Given the description of an element on the screen output the (x, y) to click on. 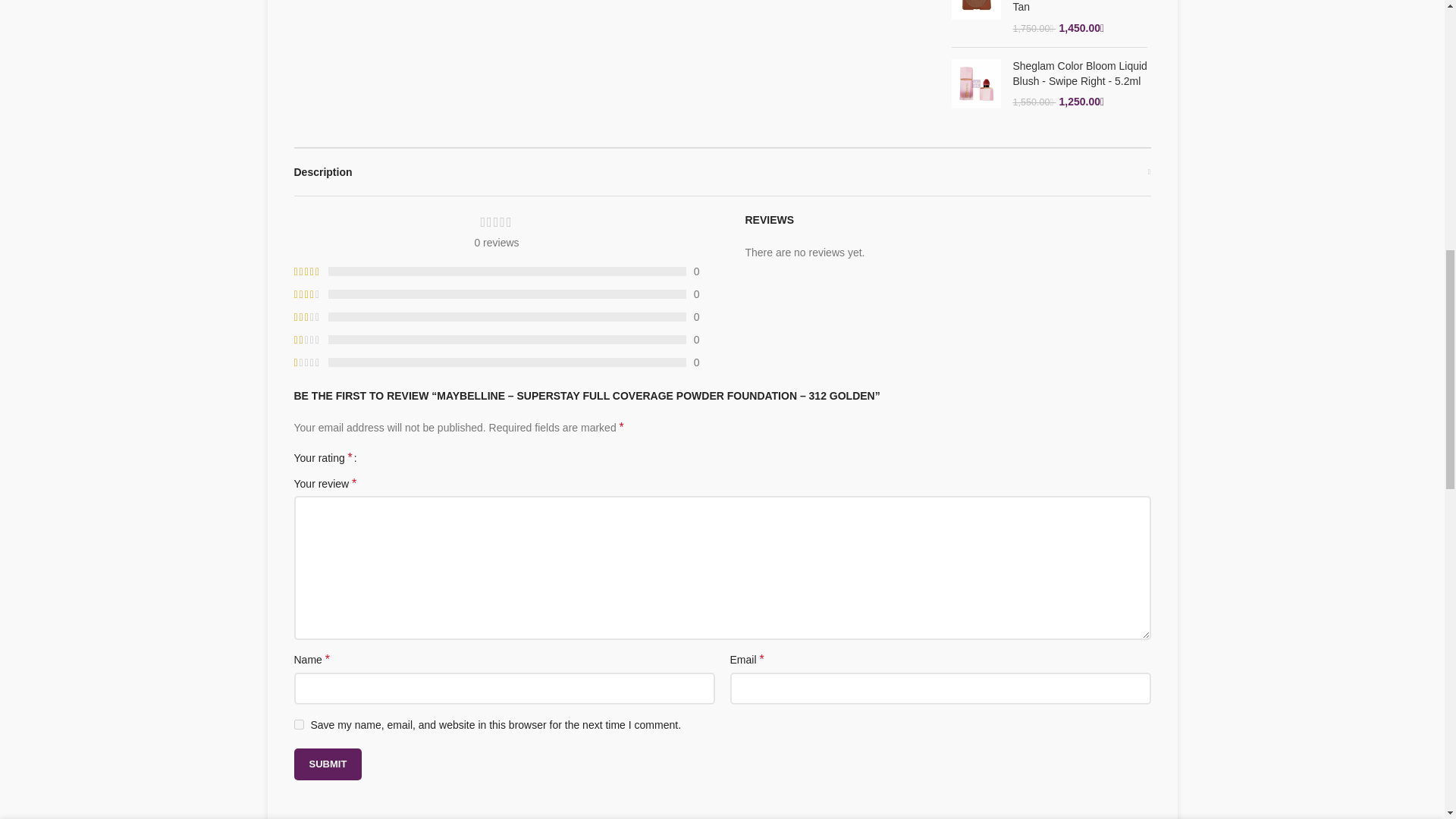
Submit (328, 764)
yes (299, 724)
